Given the description of an element on the screen output the (x, y) to click on. 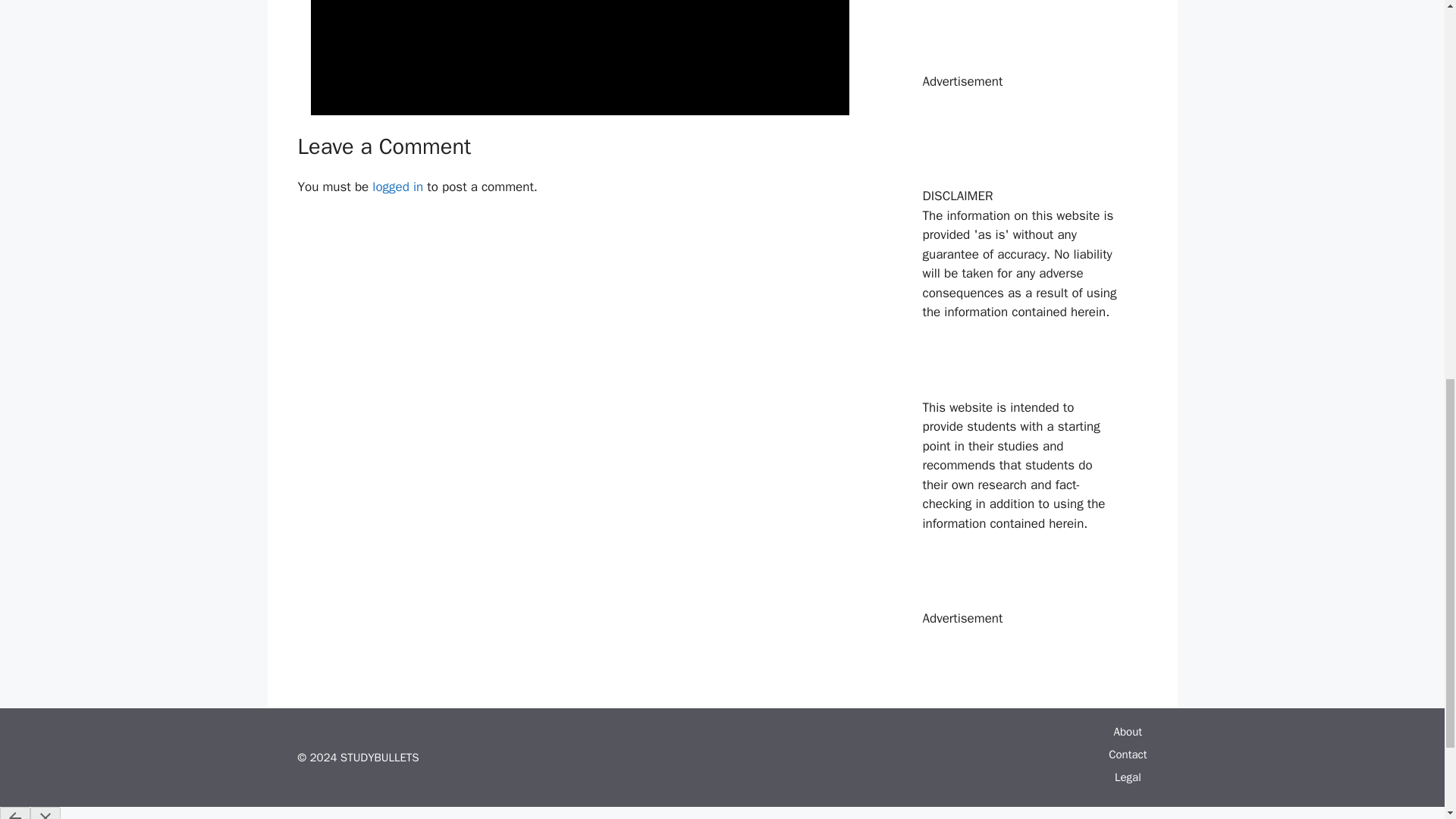
About (1127, 731)
Contact (1127, 754)
logged in (397, 186)
Advertisement (580, 52)
Legal (1128, 776)
